Given the description of an element on the screen output the (x, y) to click on. 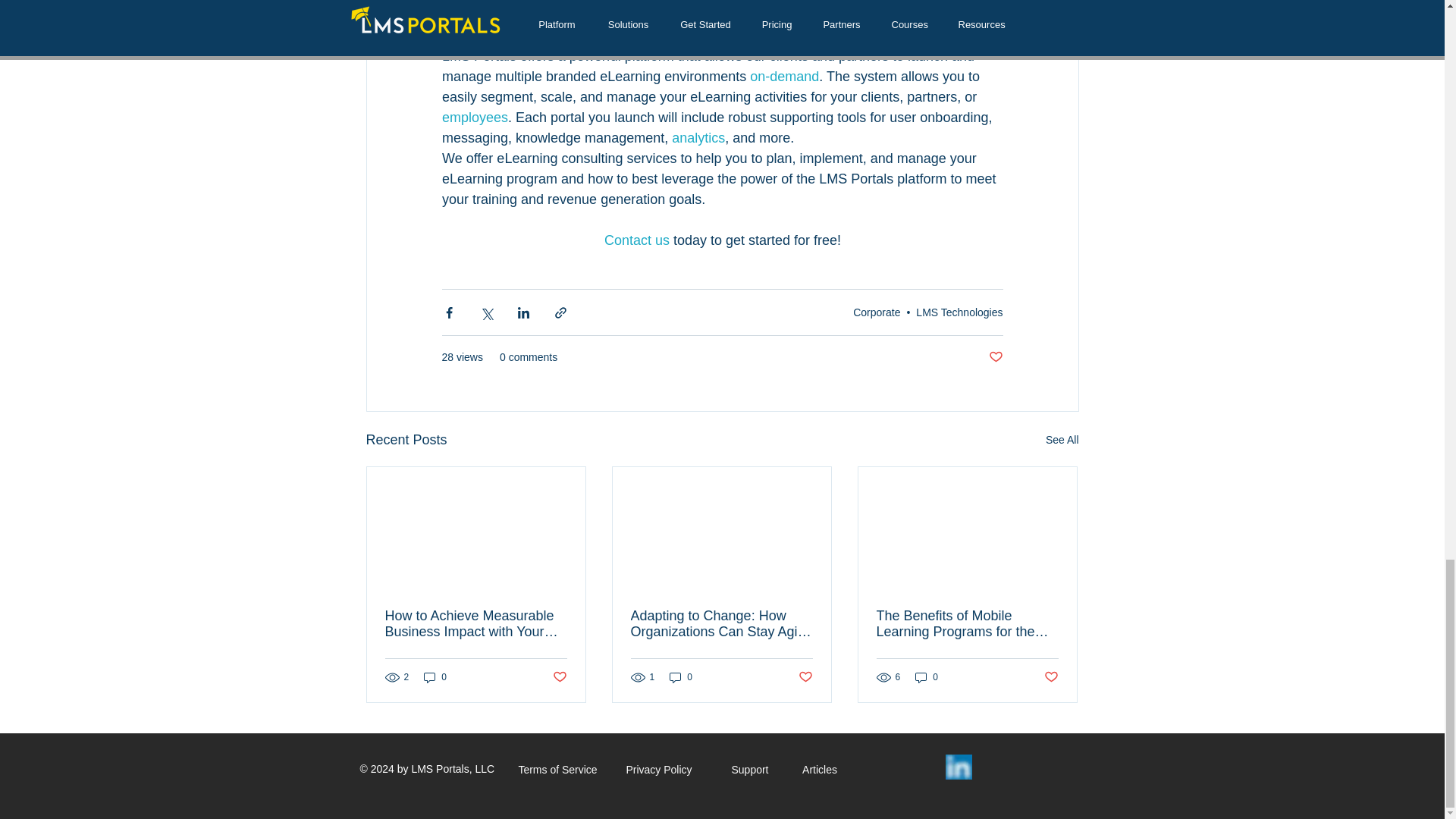
on-demand (783, 76)
